Given the description of an element on the screen output the (x, y) to click on. 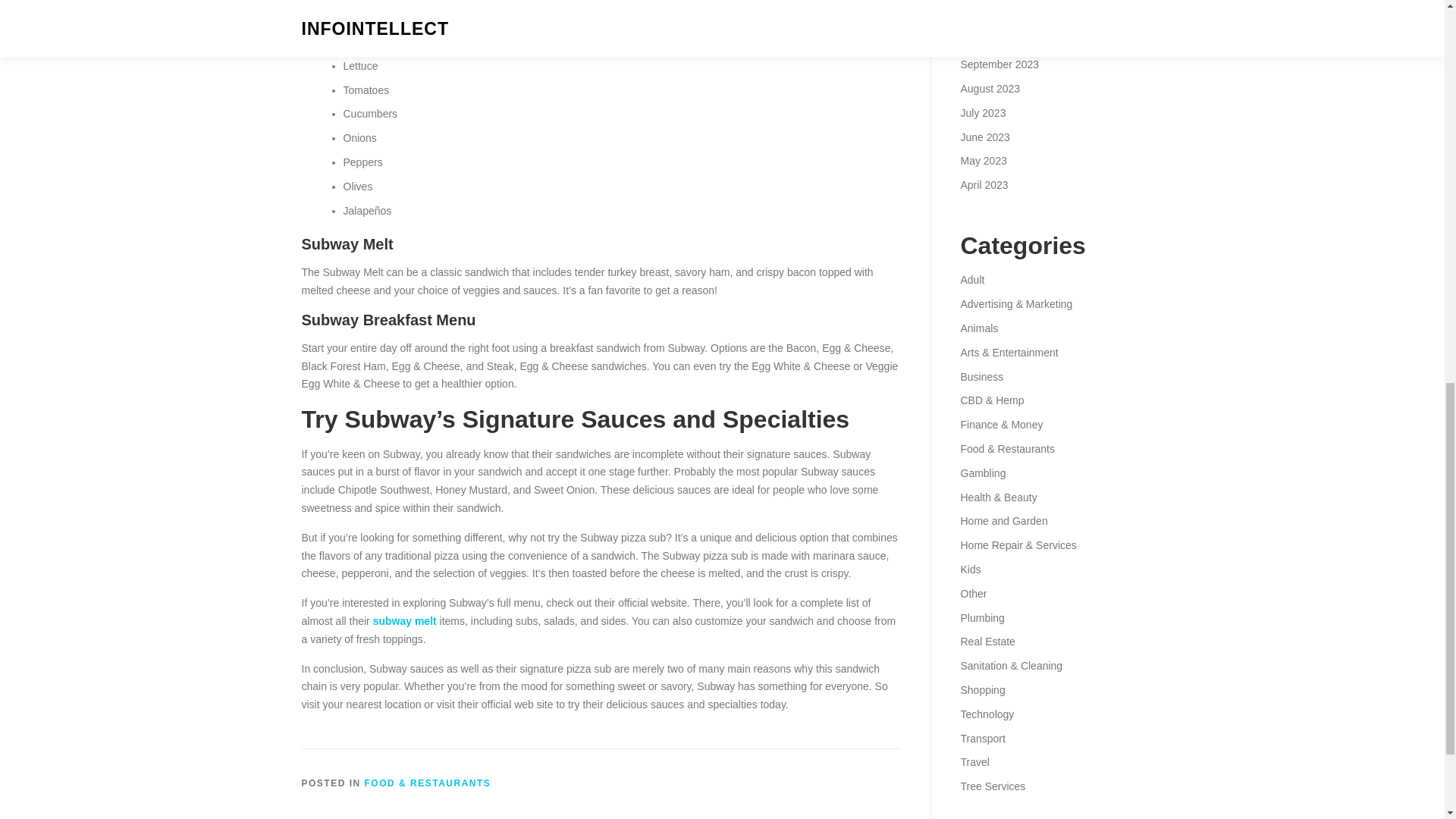
Animals (978, 328)
October 2023 (992, 39)
May 2023 (982, 160)
April 2023 (983, 184)
Business (981, 377)
June 2023 (984, 137)
November 2023 (997, 16)
subway melt (404, 621)
July 2023 (982, 112)
August 2023 (989, 88)
September 2023 (999, 64)
Adult (971, 279)
